Given the description of an element on the screen output the (x, y) to click on. 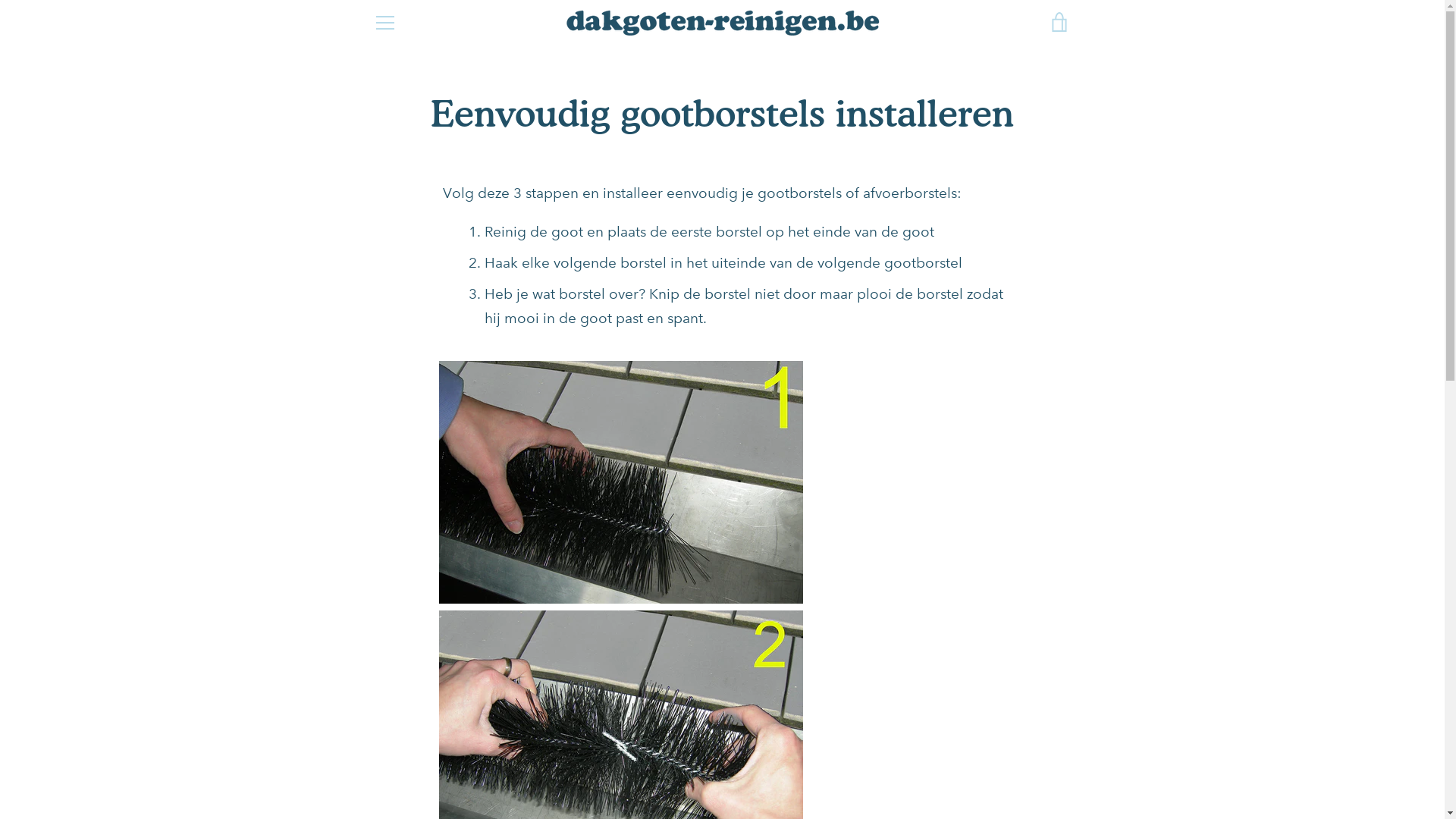
VERZENDBELEID Element type: text (961, 690)
Meteen naar de content Element type: text (0, 0)
ALGEMENE VOORWAARDEN Element type: text (806, 690)
WINKELWAGEN BEKIJKEN Element type: text (1059, 22)
MENU Element type: text (384, 22)
TERUGBETALINGSBELEID Element type: text (508, 690)
dakgoten-reinigen.be Element type: text (725, 765)
PRIVACYBELEID Element type: text (653, 690)
